Given the description of an element on the screen output the (x, y) to click on. 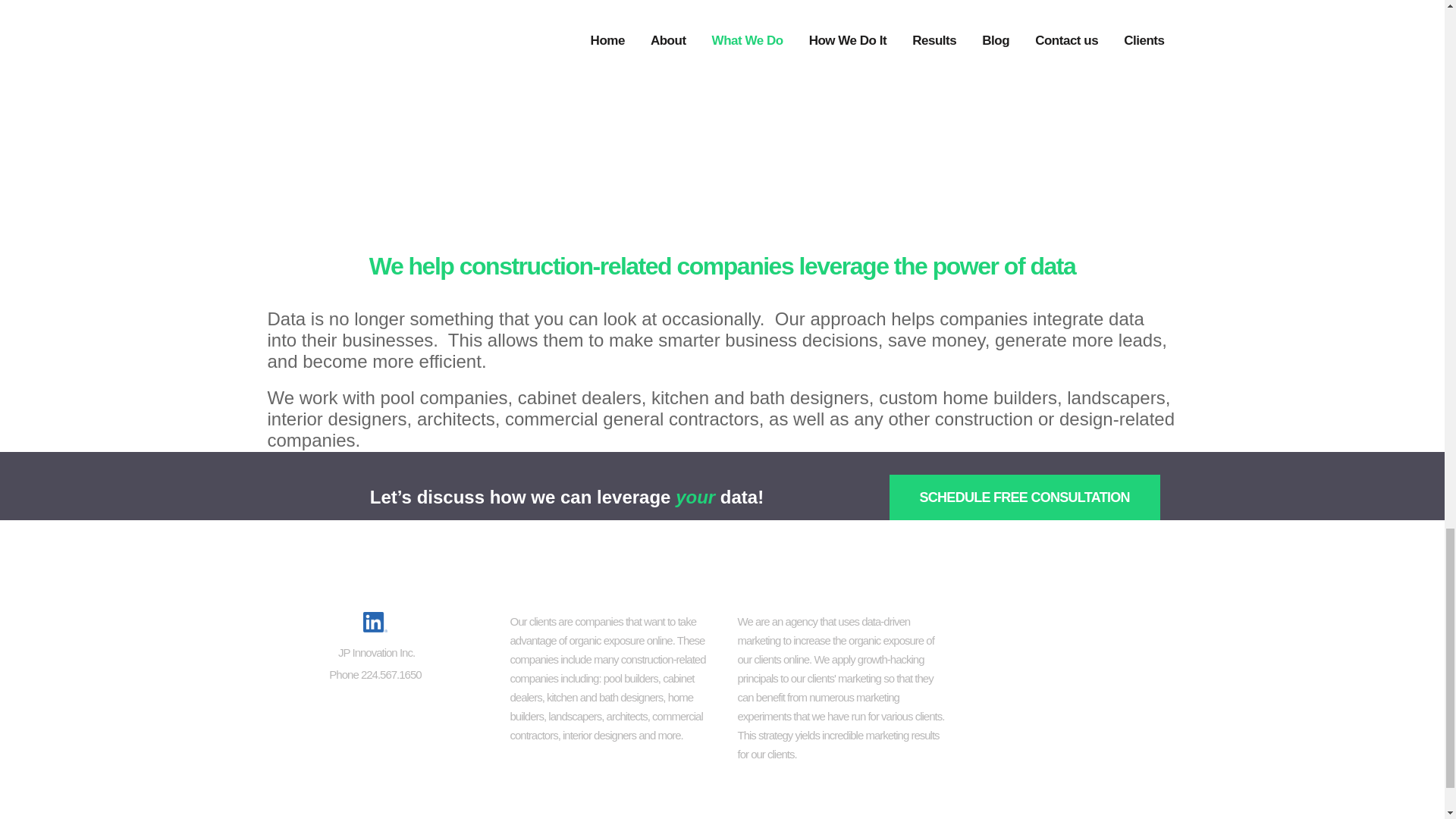
SEO for Contractors (1069, 624)
Outrank Your Competitors (1069, 724)
SCHEDULE FREE CONSULTATION (1023, 497)
